Given the description of an element on the screen output the (x, y) to click on. 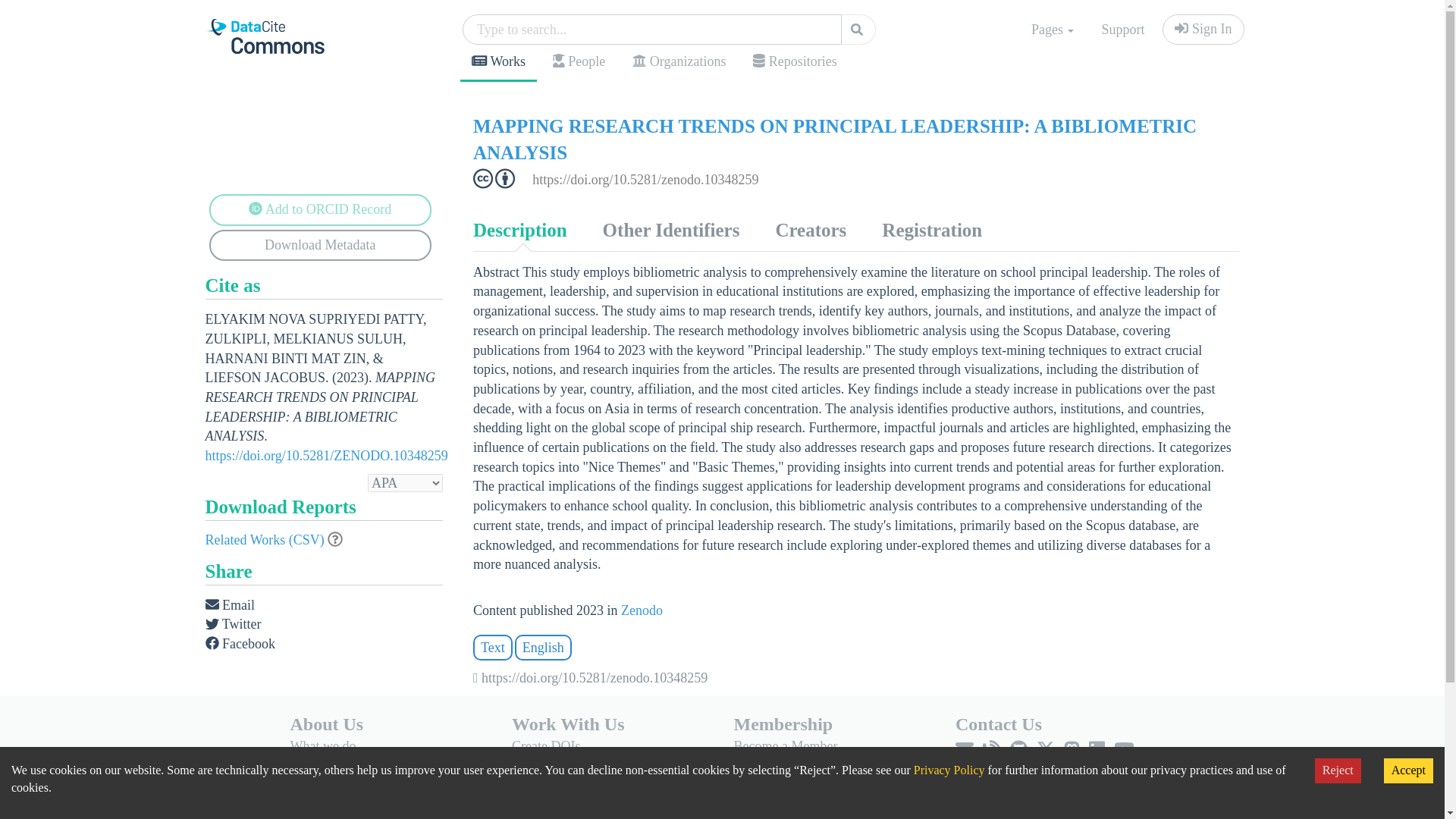
Sign in to Add to ORCID record (320, 210)
Description (519, 230)
Repositories (794, 62)
Facebook (240, 644)
Creators (809, 230)
Twitter (232, 624)
Zenodo (641, 610)
Works (498, 63)
Download Metadata (320, 245)
Other Identifiers (671, 230)
Organizations (678, 62)
Email (229, 605)
Download Metadata (320, 245)
Registration (931, 230)
